Given the description of an element on the screen output the (x, y) to click on. 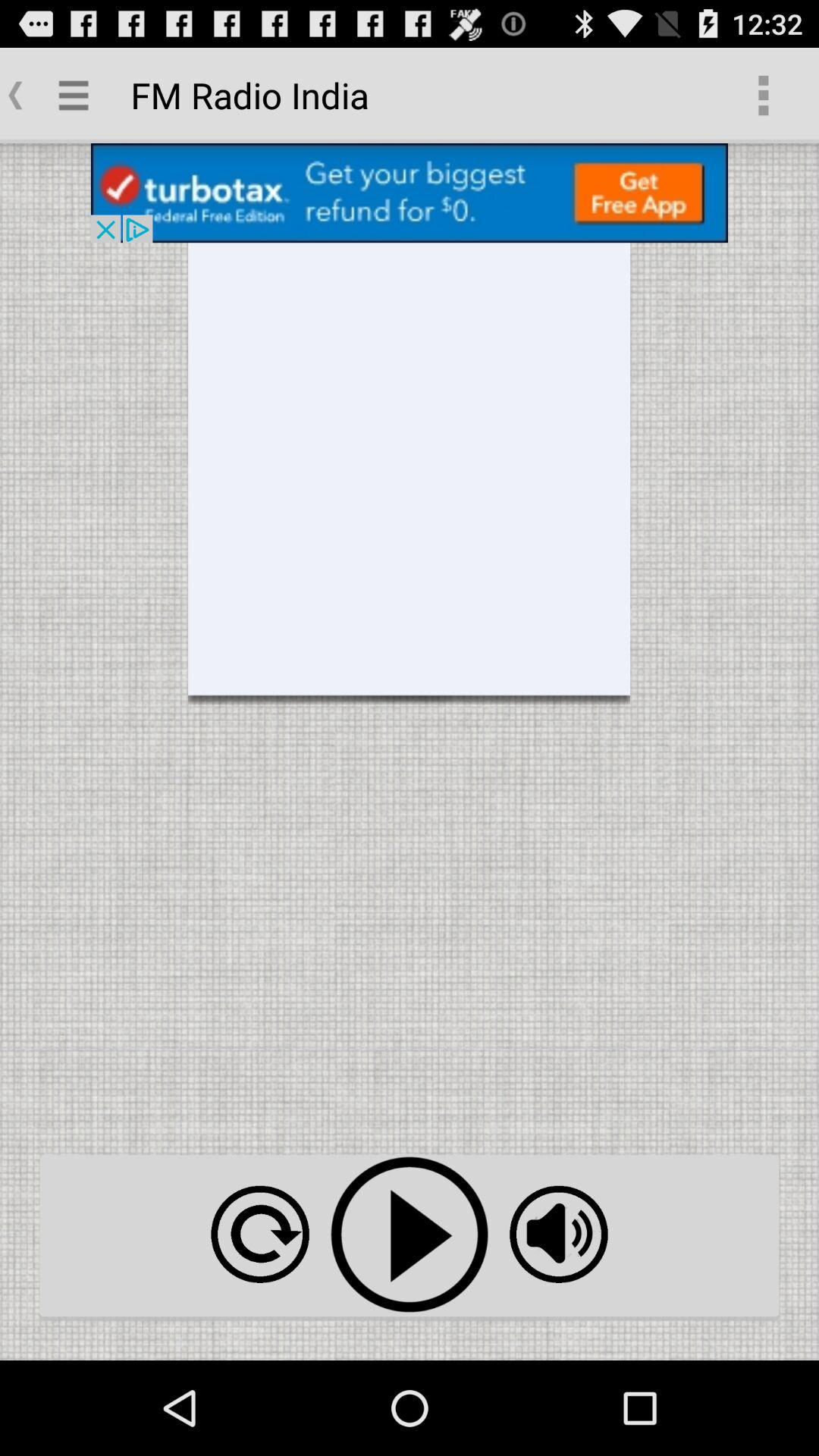
toggle mute (558, 1234)
